Given the description of an element on the screen output the (x, y) to click on. 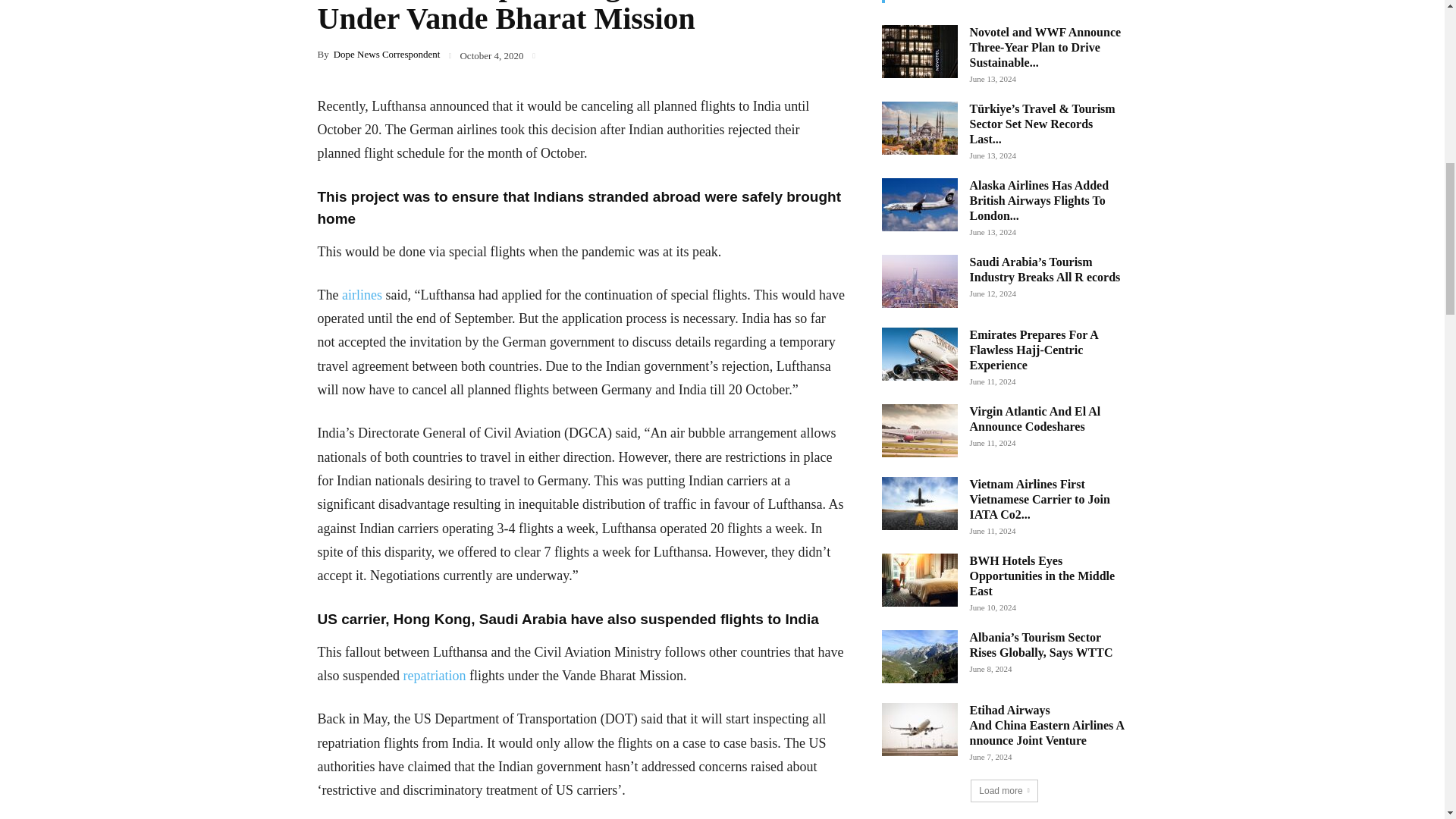
airlines (361, 294)
repatriation (434, 675)
Dope News Correspondent (387, 53)
